Given the description of an element on the screen output the (x, y) to click on. 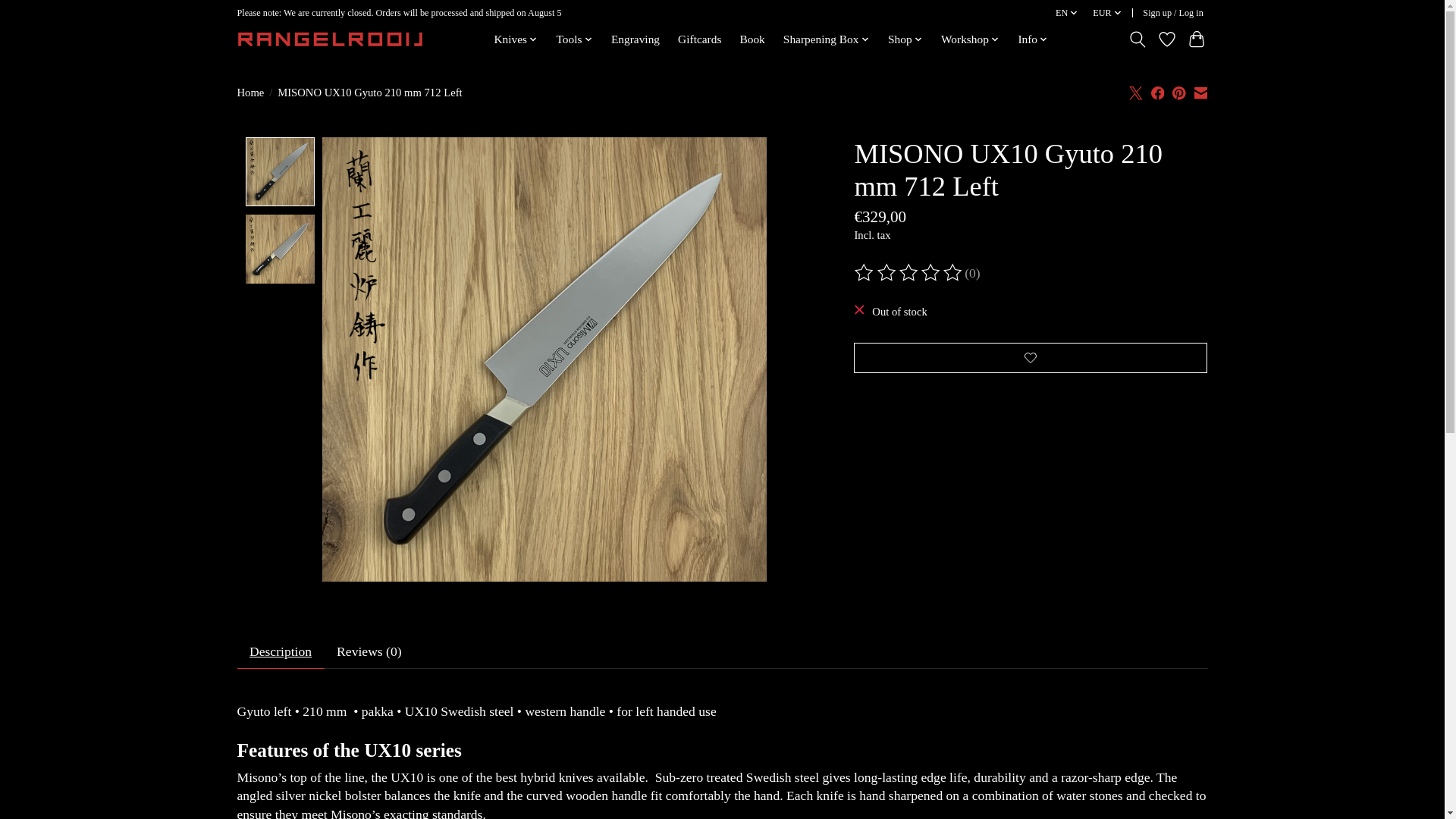
Share on Pinterest (1178, 92)
Share on Facebook (1157, 92)
Share on X (1135, 92)
My account (1173, 13)
EUR (1107, 13)
EN (1067, 13)
Share by Email (1200, 92)
 Hamono.nl - The world of Japanese knives (328, 38)
Knives (515, 38)
